Given the description of an element on the screen output the (x, y) to click on. 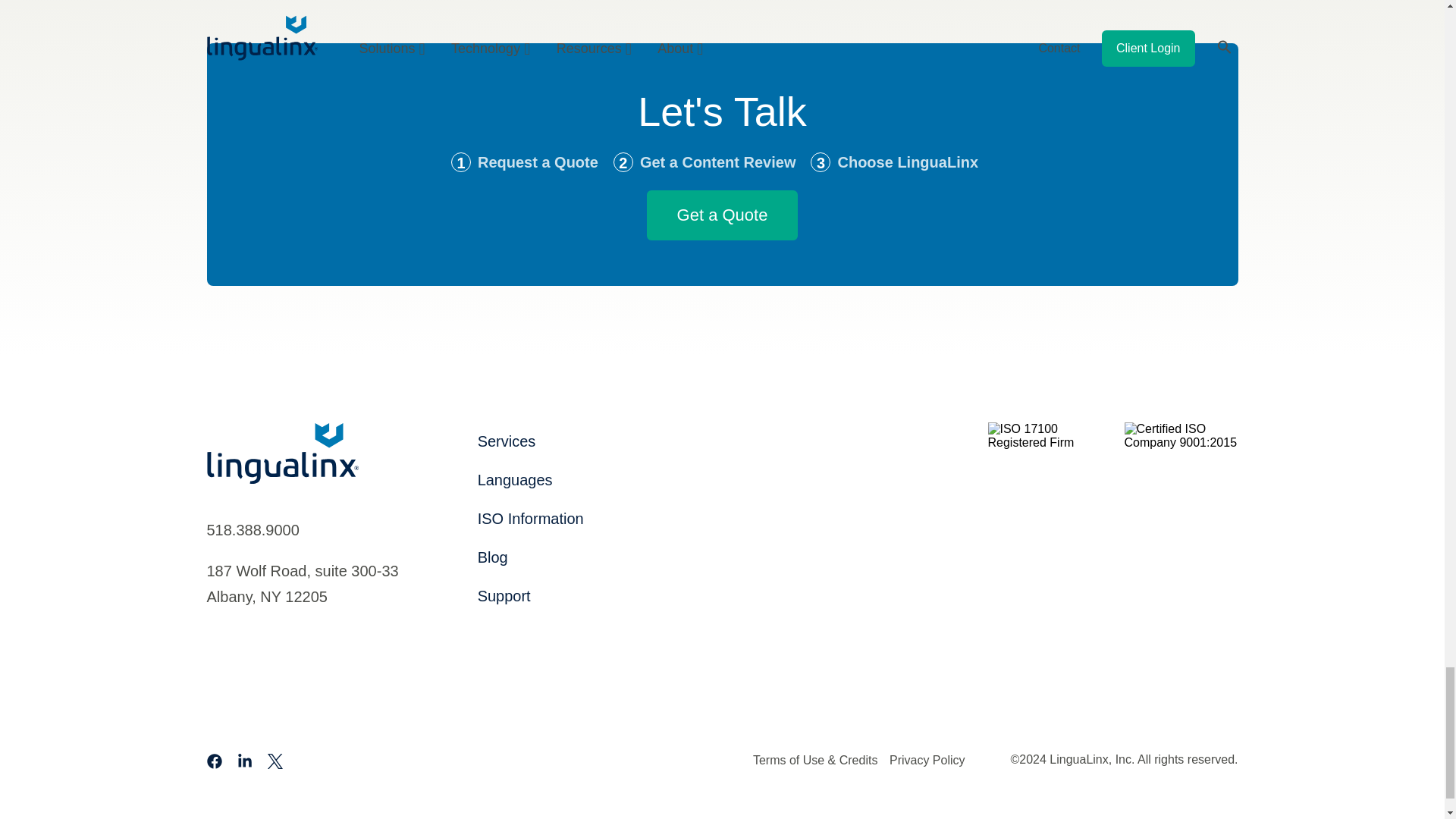
Get a Quote (721, 215)
